Given the description of an element on the screen output the (x, y) to click on. 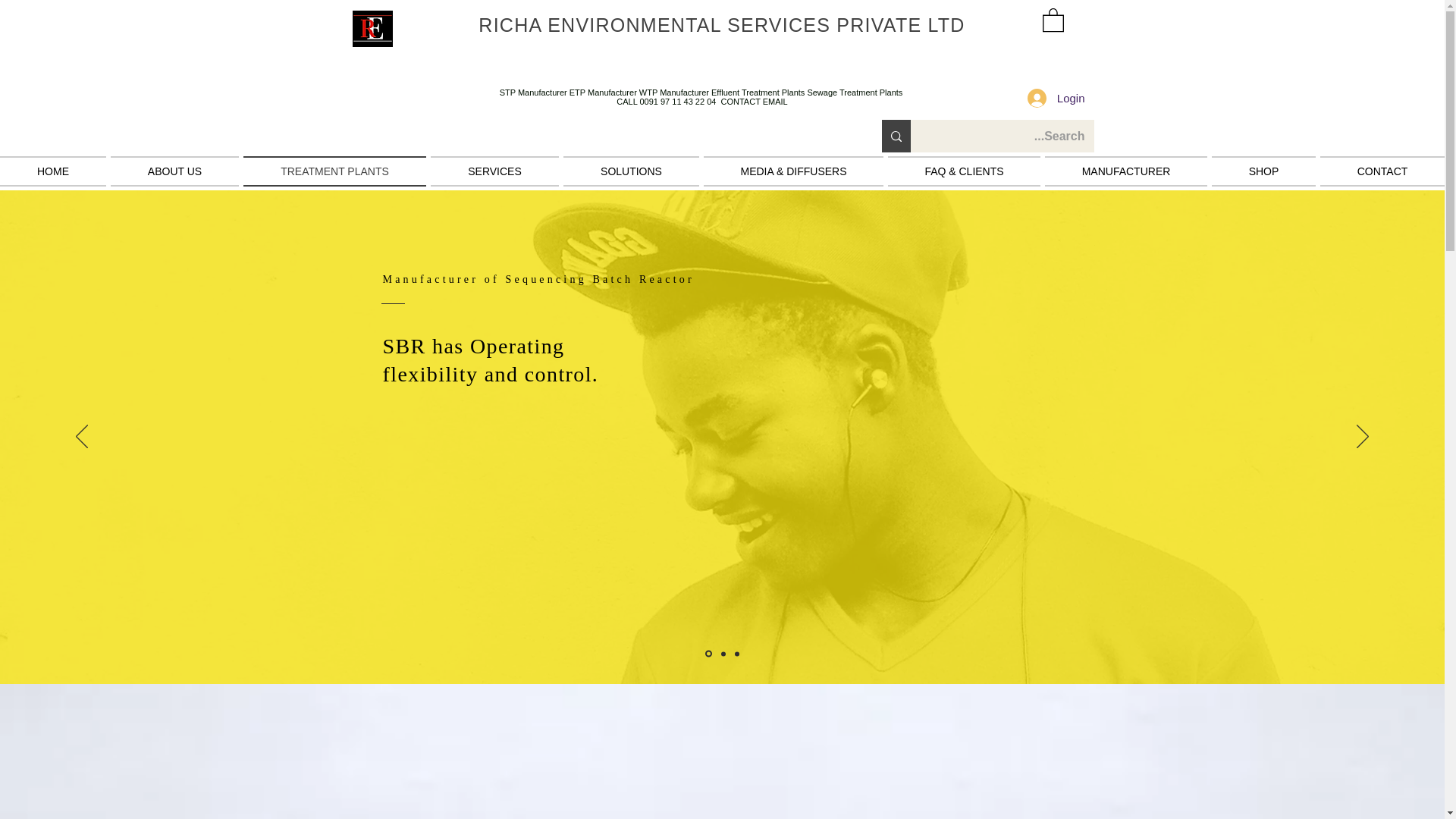
SERVICES (494, 171)
CONTACT EMAIL (753, 101)
ABOUT US (174, 171)
HOME (53, 171)
Richa Environmental  Services Private Limited (371, 28)
TREATMENT PLANTS (334, 171)
Login (1056, 98)
MANUFACTURER (1125, 171)
